Given the description of an element on the screen output the (x, y) to click on. 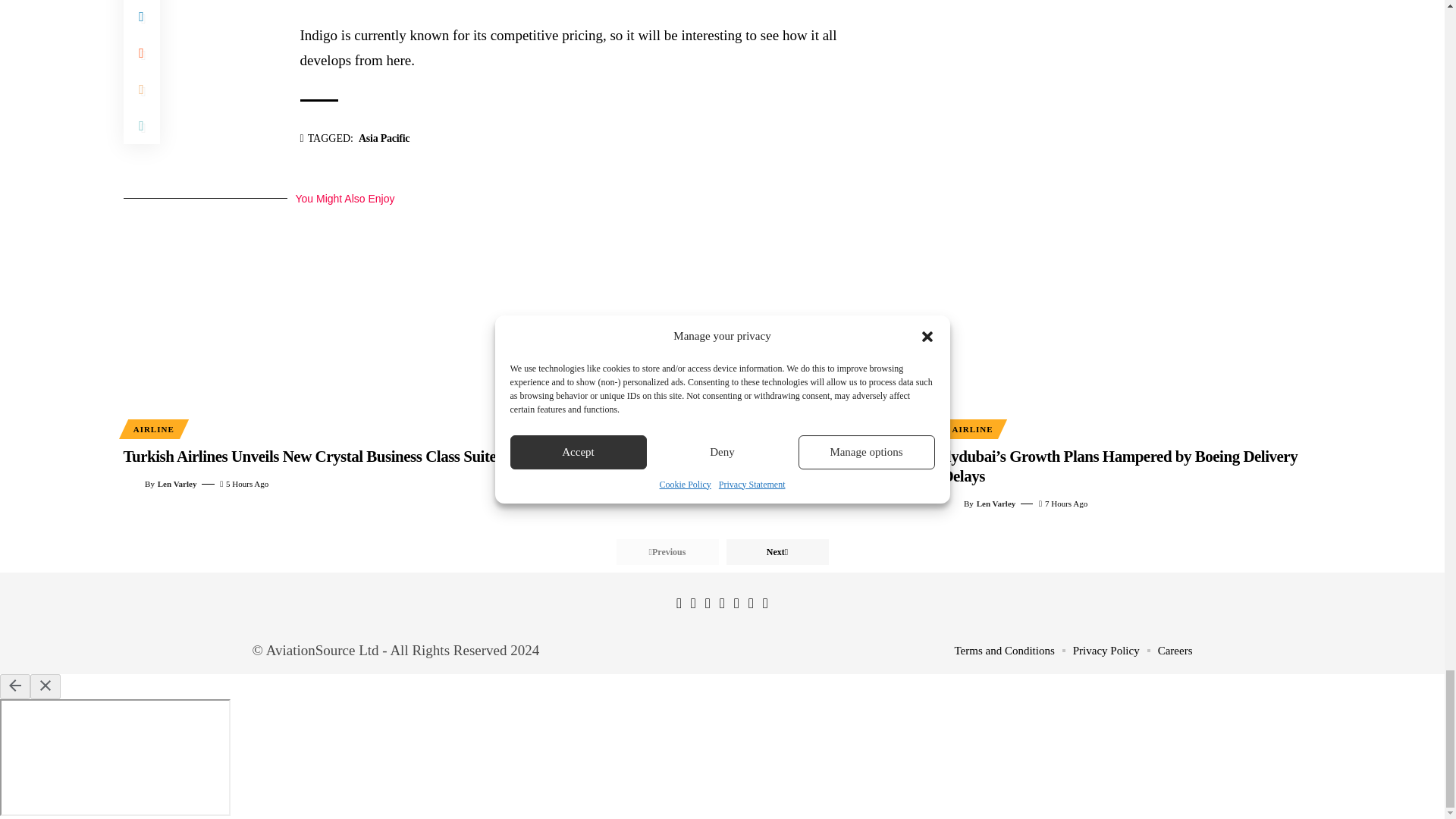
Turkish Airlines Unveils New Crystal Business Class Suite (312, 321)
